Given the description of an element on the screen output the (x, y) to click on. 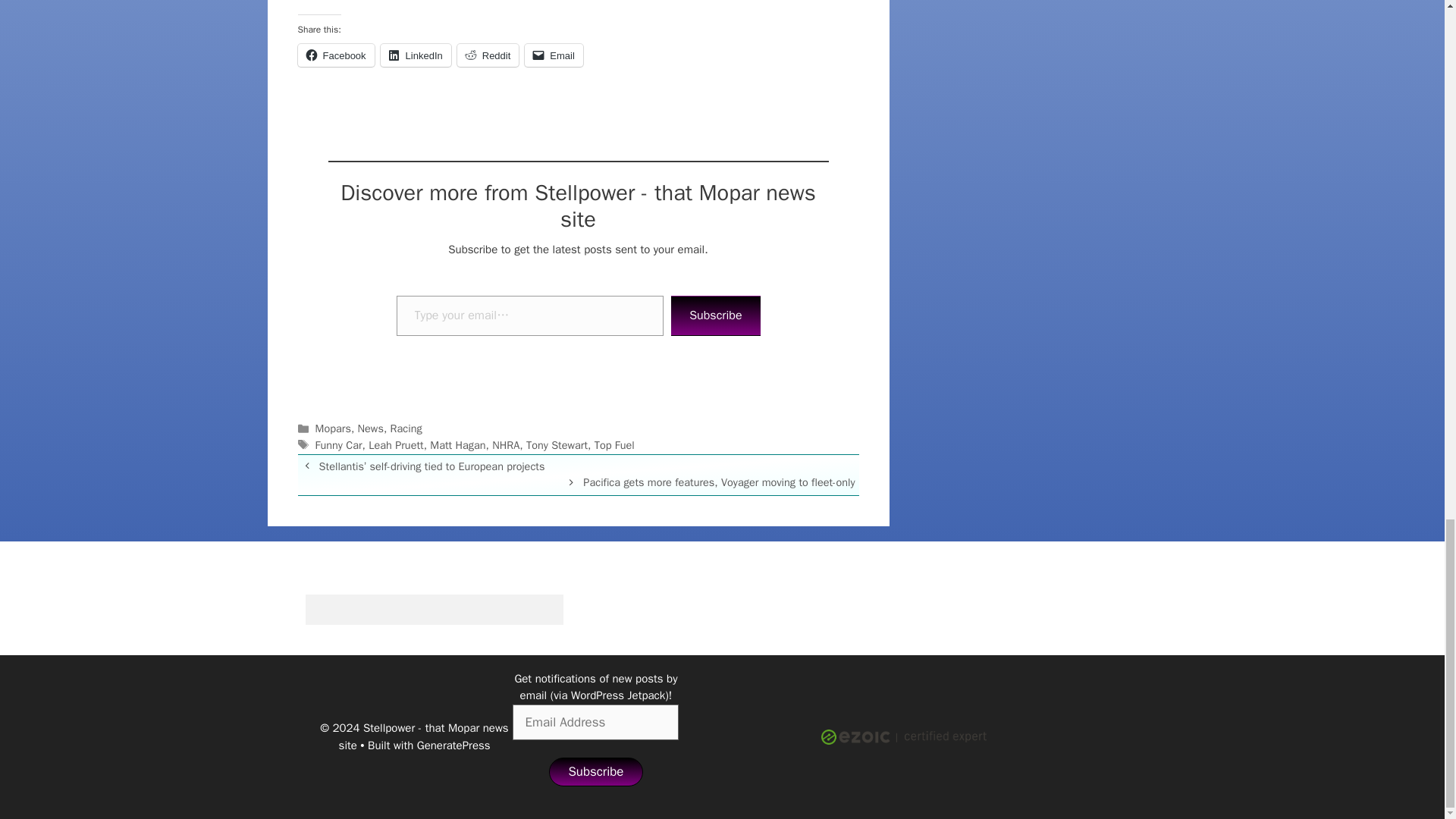
Racing (406, 427)
Reddit (488, 55)
Facebook (335, 55)
Subscribe (715, 315)
Click to share on Facebook (335, 55)
LinkedIn (415, 55)
Email (553, 55)
Mopars (332, 427)
Leah Pruett (395, 445)
Click to email a link to a friend (553, 55)
Click to share on Reddit (488, 55)
News (371, 427)
Please fill in this field. (529, 315)
Click to share on LinkedIn (415, 55)
Funny Car (338, 445)
